Given the description of an element on the screen output the (x, y) to click on. 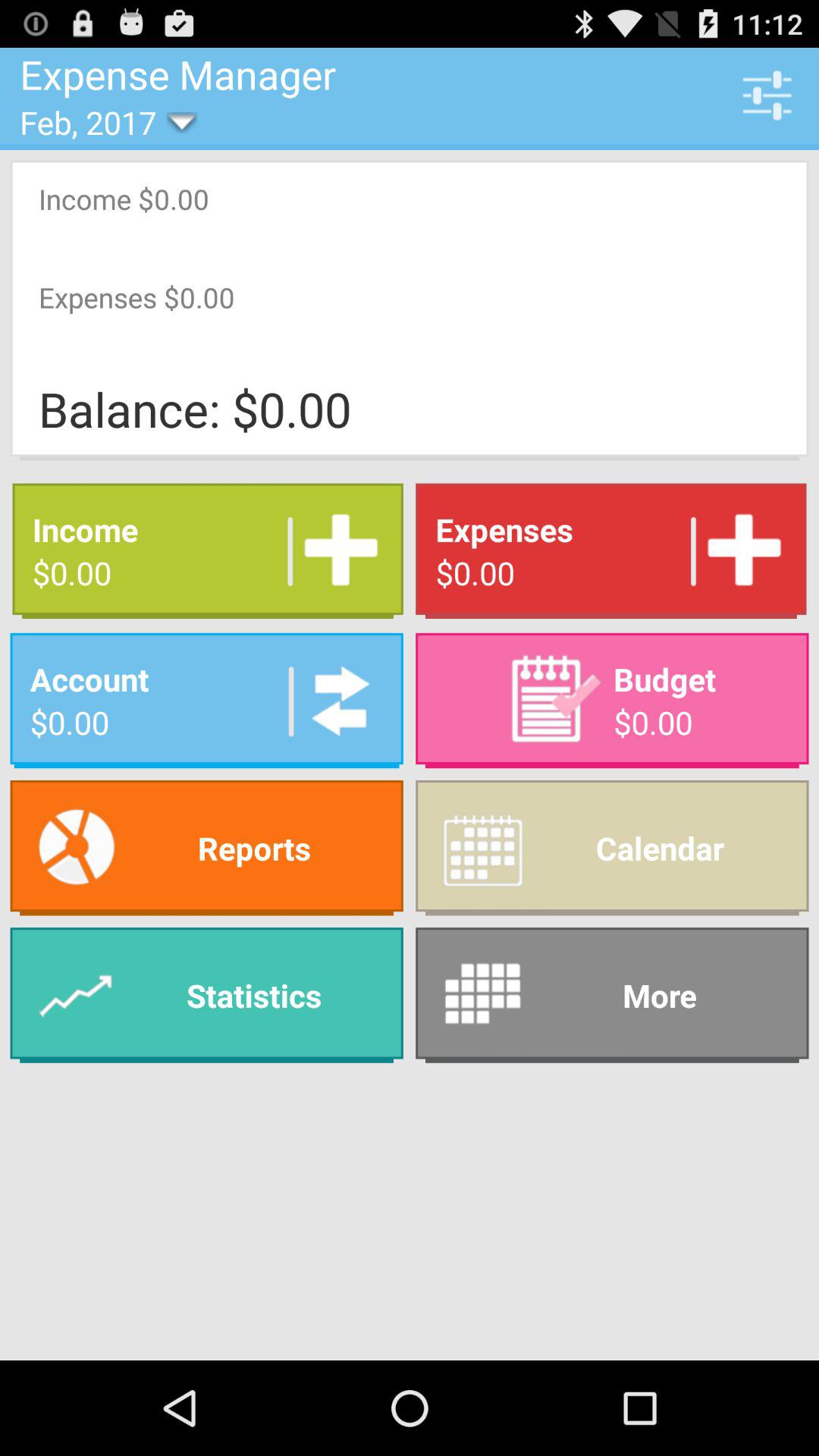
view account (335, 700)
